Given the description of an element on the screen output the (x, y) to click on. 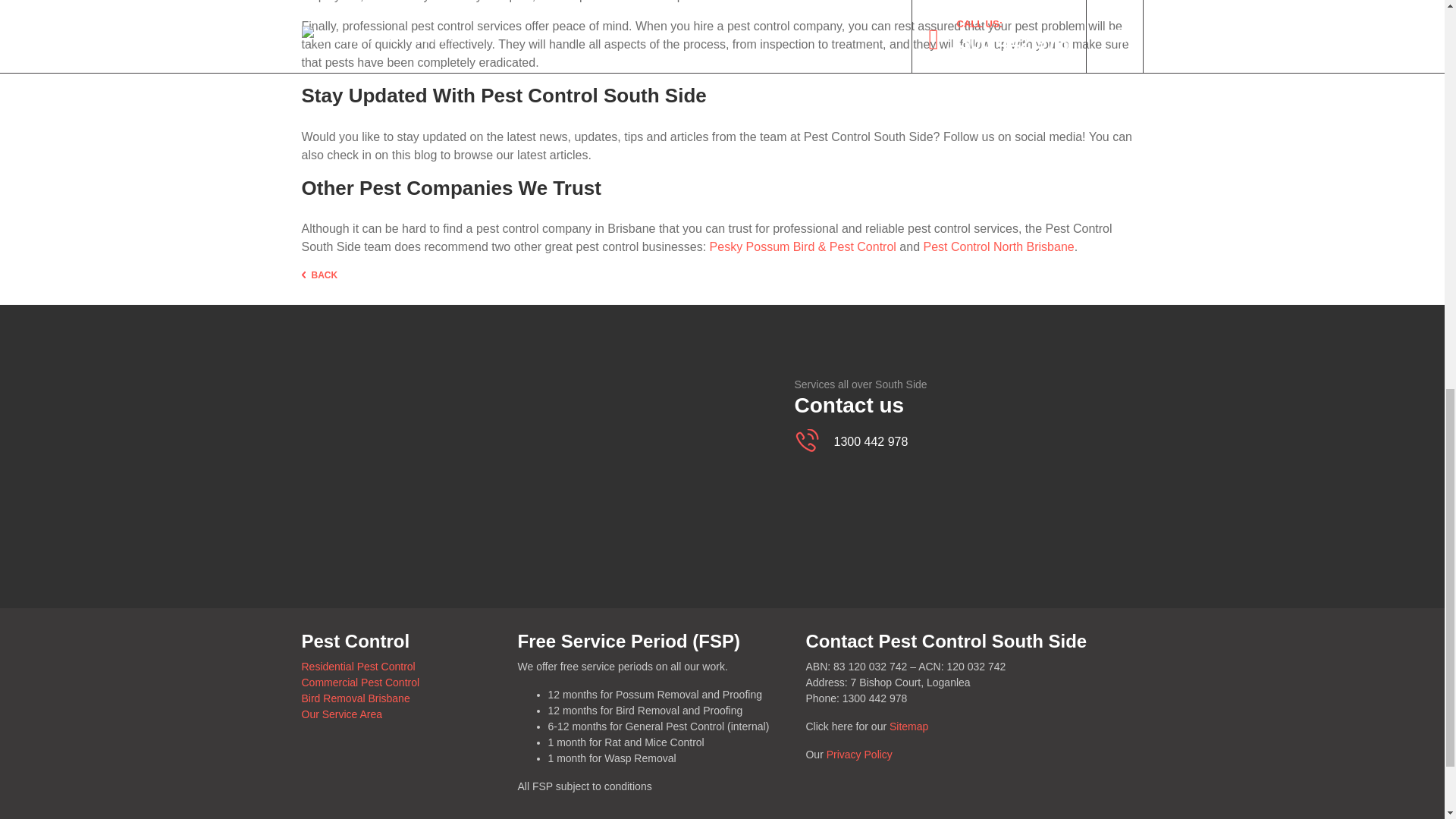
Our Service Area (341, 714)
Sitemap (908, 726)
Bird Removal Brisbane (355, 698)
Pest Control North Brisbane (998, 246)
BACK (319, 274)
1300 442 978 (863, 440)
Commercial Pest Control (360, 682)
Residential Pest Control (357, 666)
